Given the description of an element on the screen output the (x, y) to click on. 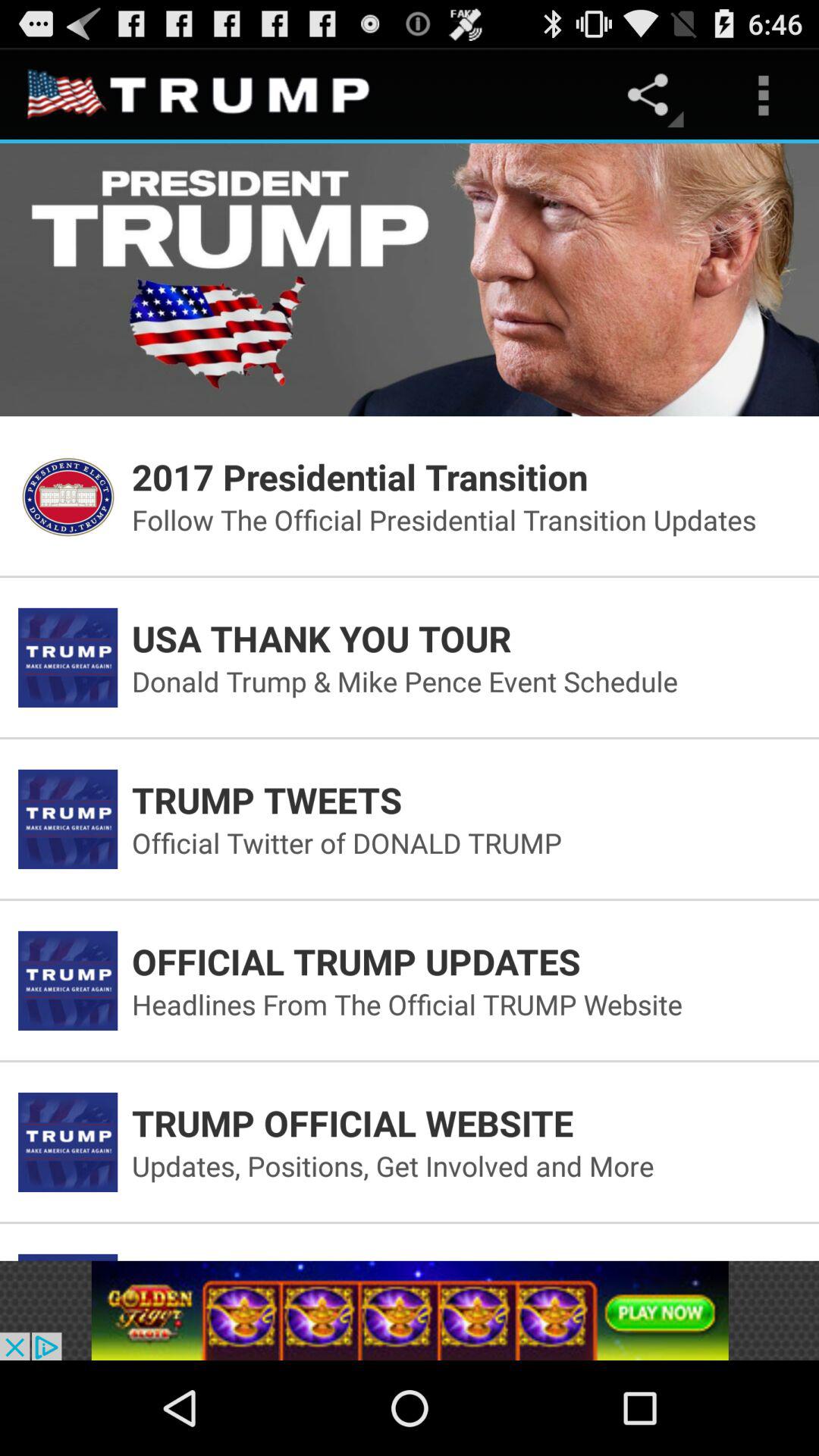
visit advertiser website (409, 1310)
